Given the description of an element on the screen output the (x, y) to click on. 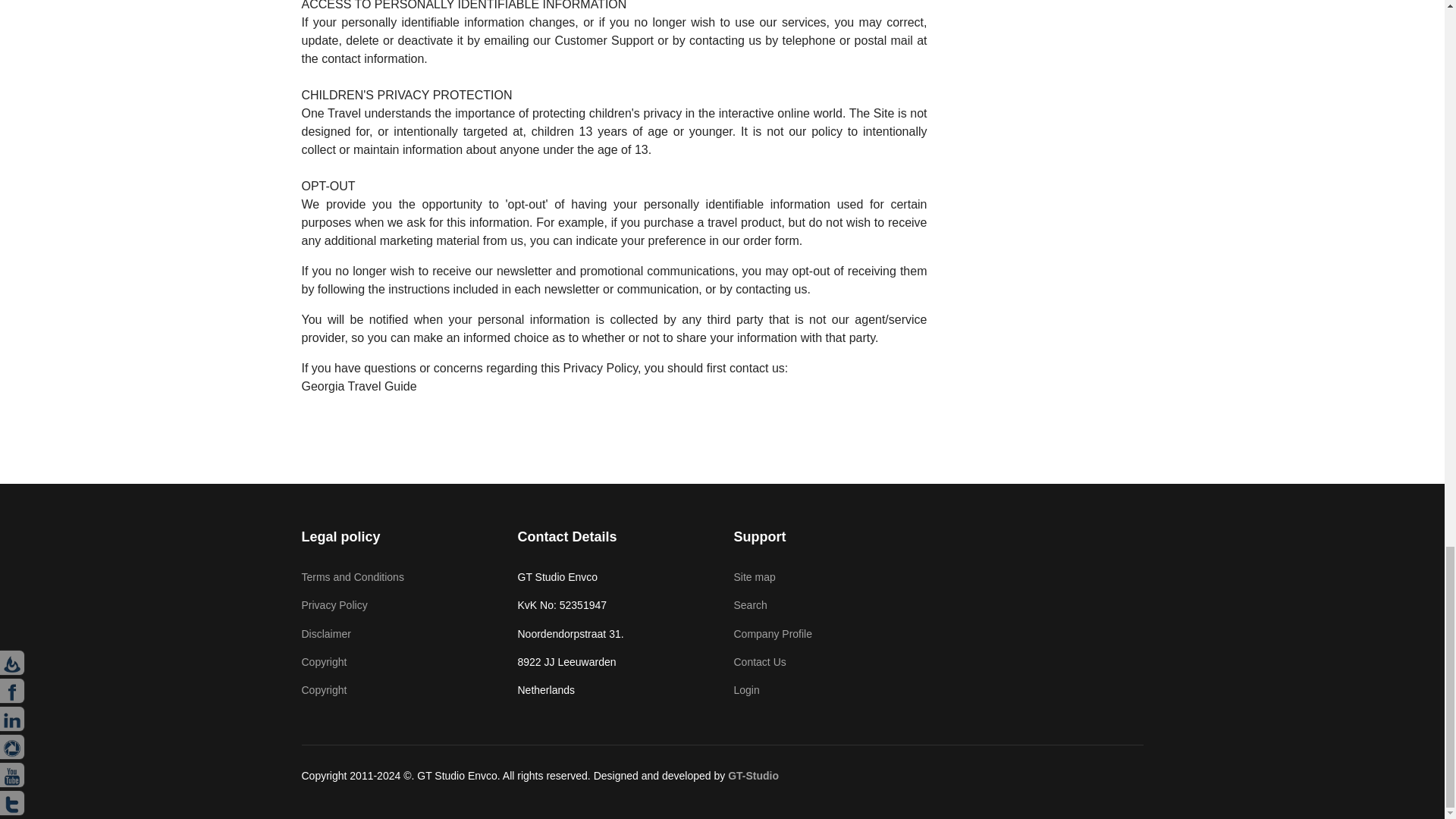
Terms and Conditions (398, 576)
Disclaimer (398, 633)
Privacy Policy (398, 605)
GT-Studio (753, 775)
Copyright (398, 661)
